Given the description of an element on the screen output the (x, y) to click on. 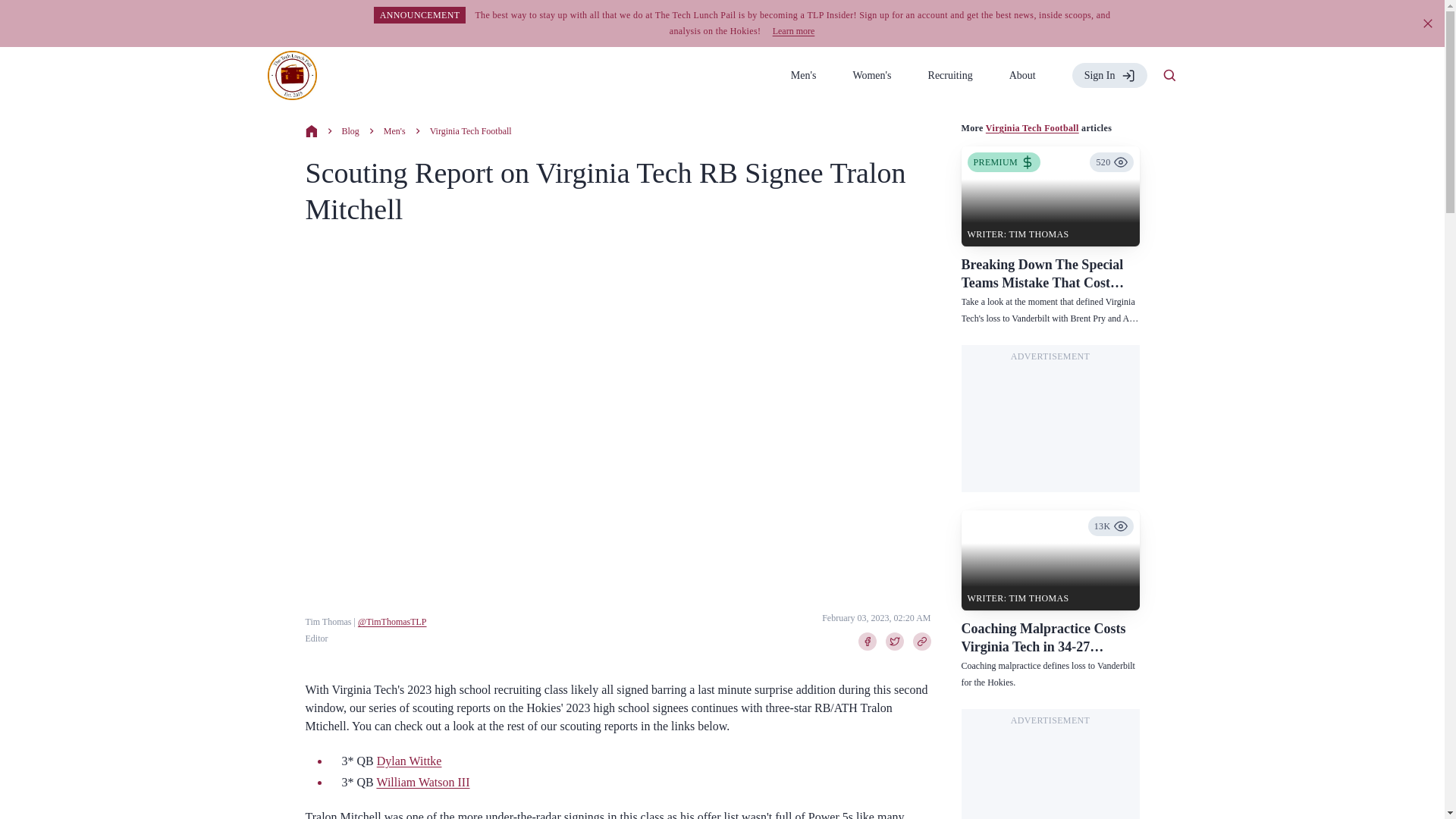
Advertisement (1049, 775)
Open search bar (1168, 75)
Virginia Tech Football (1031, 127)
Virginia Tech Football (470, 130)
Copy link to clipboard (921, 641)
Blog (349, 130)
Close banner (1428, 23)
Return to homepage (290, 74)
Men's (395, 130)
